Given the description of an element on the screen output the (x, y) to click on. 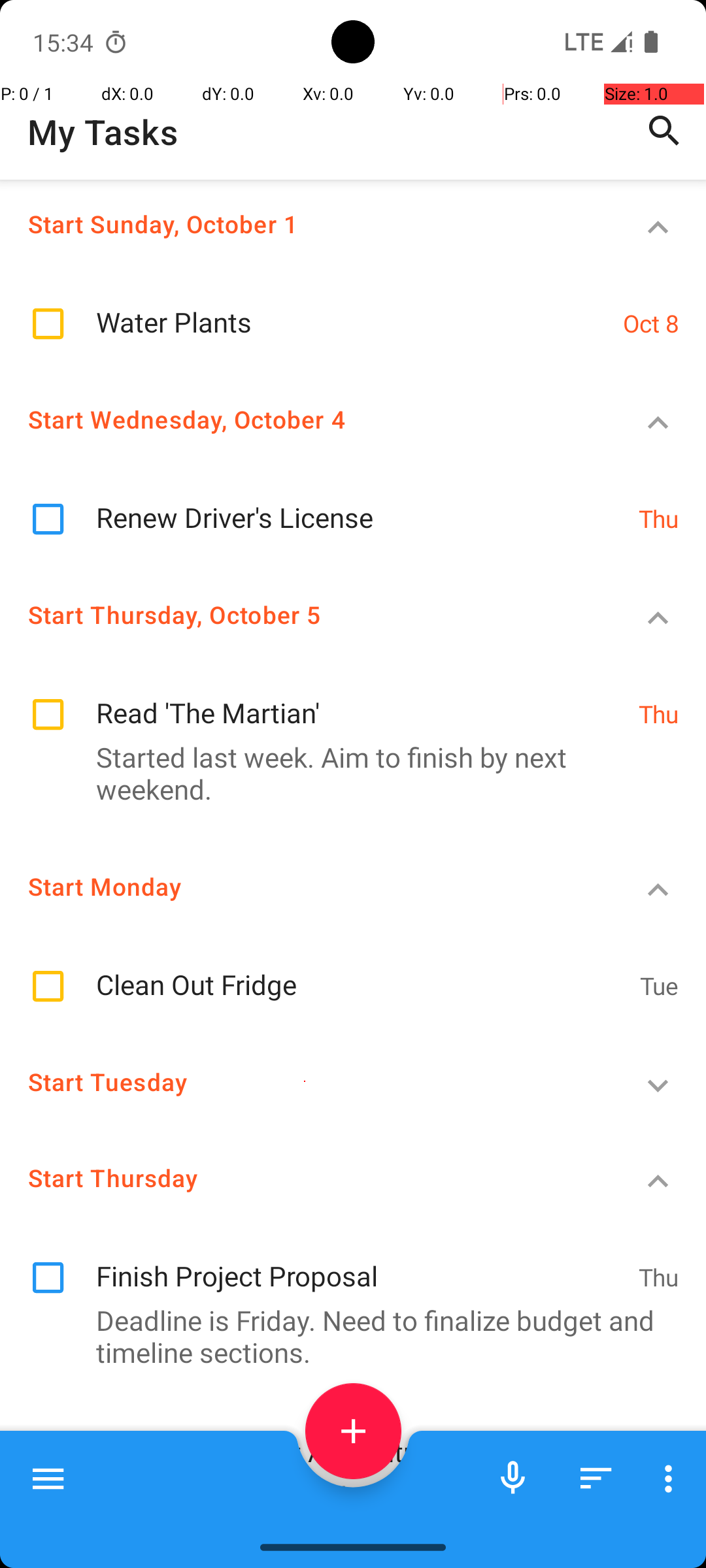
Start Sunday, October 1 Element type: android.widget.TextView (304, 223)
Start Wednesday, October 4 Element type: android.widget.TextView (304, 419)
Start Thursday, October 5 Element type: android.widget.TextView (304, 614)
Start Monday Element type: android.widget.TextView (304, 886)
Start Tuesday Element type: android.widget.TextView (304, 1081)
Start Thursday Element type: android.widget.TextView (304, 1177)
